Given the description of an element on the screen output the (x, y) to click on. 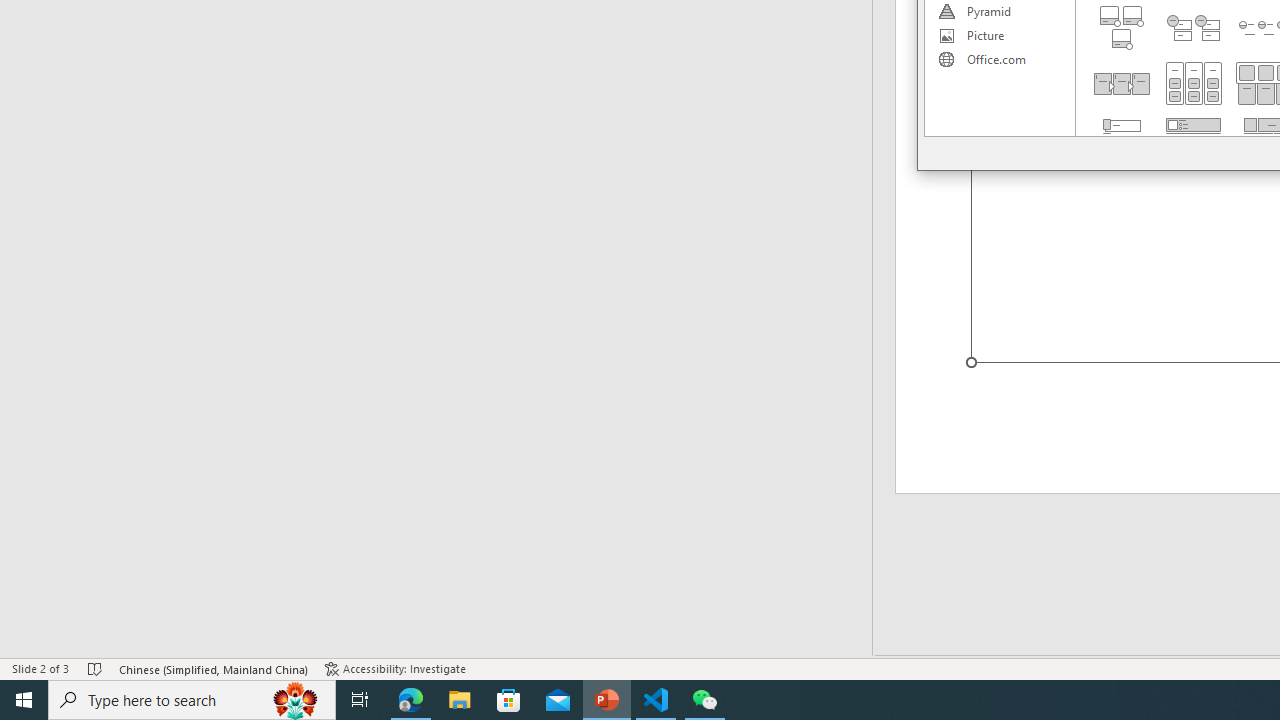
Task View (359, 699)
Picture (999, 35)
WeChat - 1 running window (704, 699)
PowerPoint - 1 running window (607, 699)
Vertical Picture List (1194, 139)
Stacked List (1194, 28)
Bending Picture Accent List (1121, 28)
Pyramid (999, 11)
Type here to search (191, 699)
Spell Check No Errors (95, 668)
Microsoft Store (509, 699)
Search highlights icon opens search home window (295, 699)
Start (24, 699)
File Explorer (460, 699)
